Given the description of an element on the screen output the (x, y) to click on. 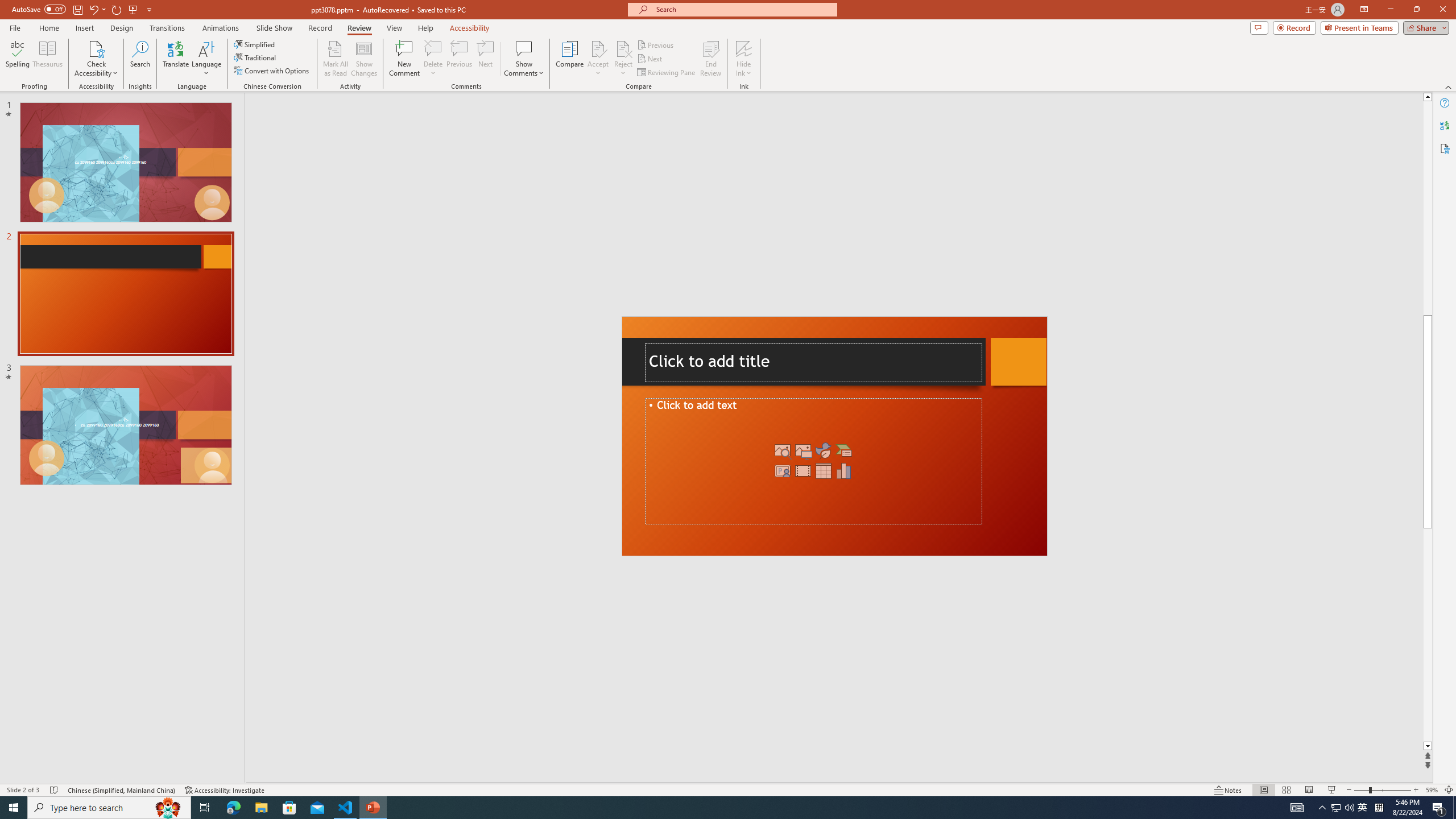
Show Changes (363, 58)
Reject (622, 58)
Content Placeholder (813, 461)
